Given the description of an element on the screen output the (x, y) to click on. 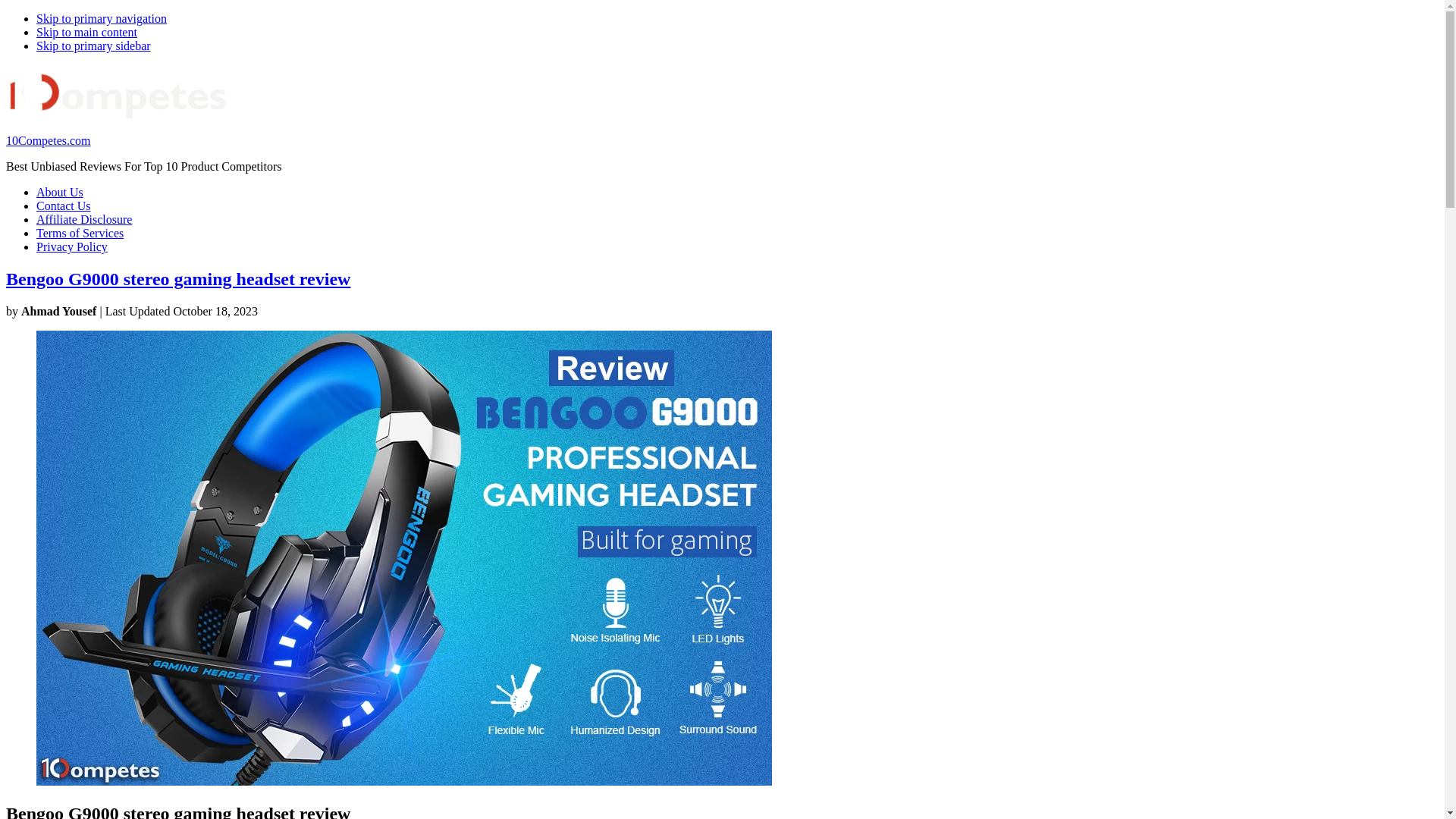
Skip to main content Element type: text (86, 31)
10Competes.com Element type: text (48, 140)
Bengoo G9000 stereo gaming headset review Element type: text (178, 278)
Affiliate Disclosure Element type: text (83, 219)
Skip to primary navigation Element type: text (101, 18)
Privacy Policy Element type: text (71, 246)
Terms of Services Element type: text (79, 232)
Skip to primary sidebar Element type: text (93, 45)
Contact Us Element type: text (63, 205)
About Us Element type: text (59, 191)
